Given the description of an element on the screen output the (x, y) to click on. 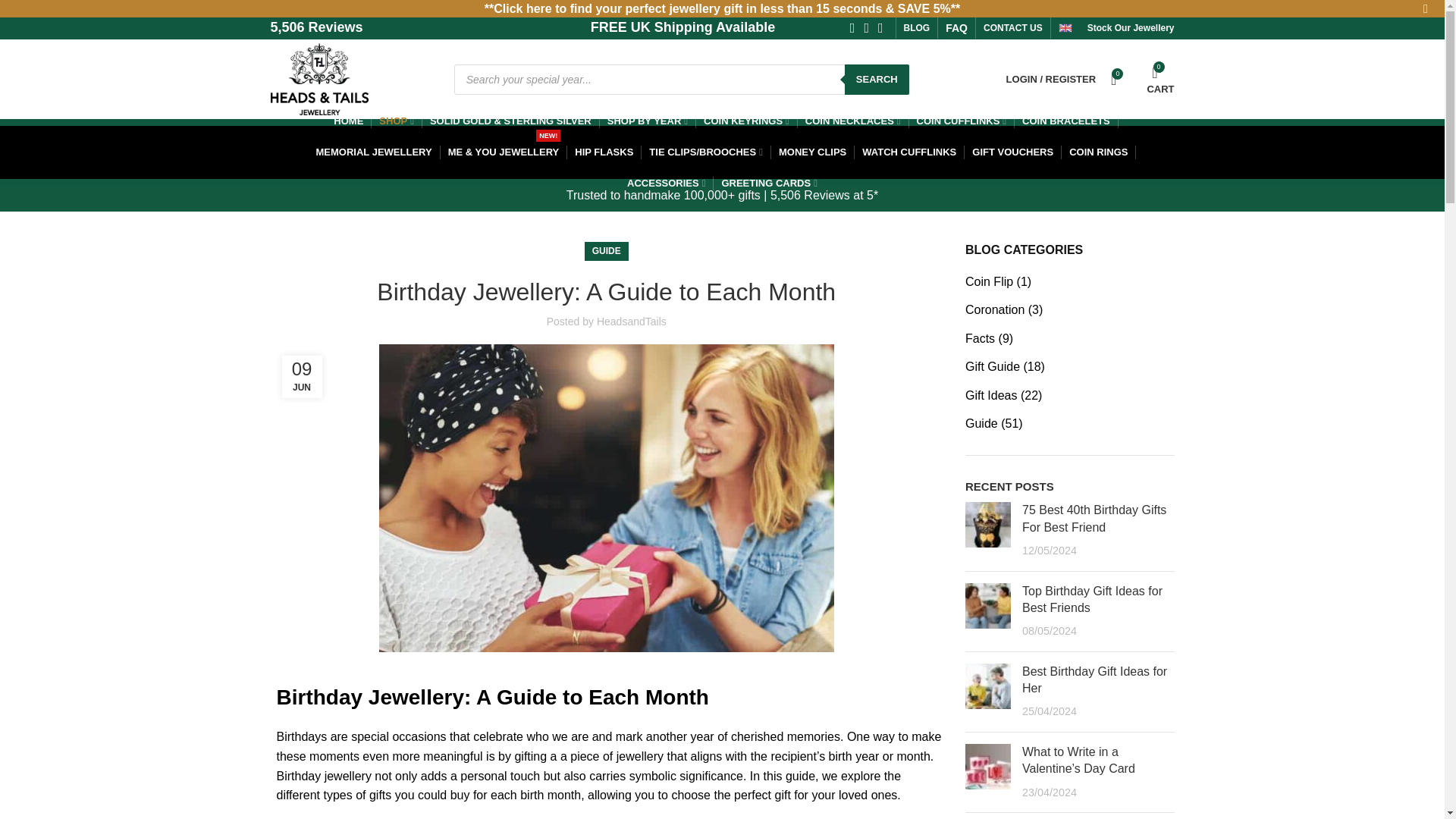
My account (1050, 78)
Stock Our Jewellery (1130, 27)
Permalink to Top Birthday Gift Ideas for Best Friends (1091, 598)
SEARCH (876, 78)
BLOG (1153, 78)
SHOP BY YEAR (917, 27)
Permalink to Best Birthday Gift Ideas for Her (647, 121)
SHOP (1094, 679)
CONTACT US (395, 121)
Shopping cart (1013, 27)
FAQ (1153, 78)
HOME (956, 28)
5,506 Reviews (347, 121)
